Given the description of an element on the screen output the (x, y) to click on. 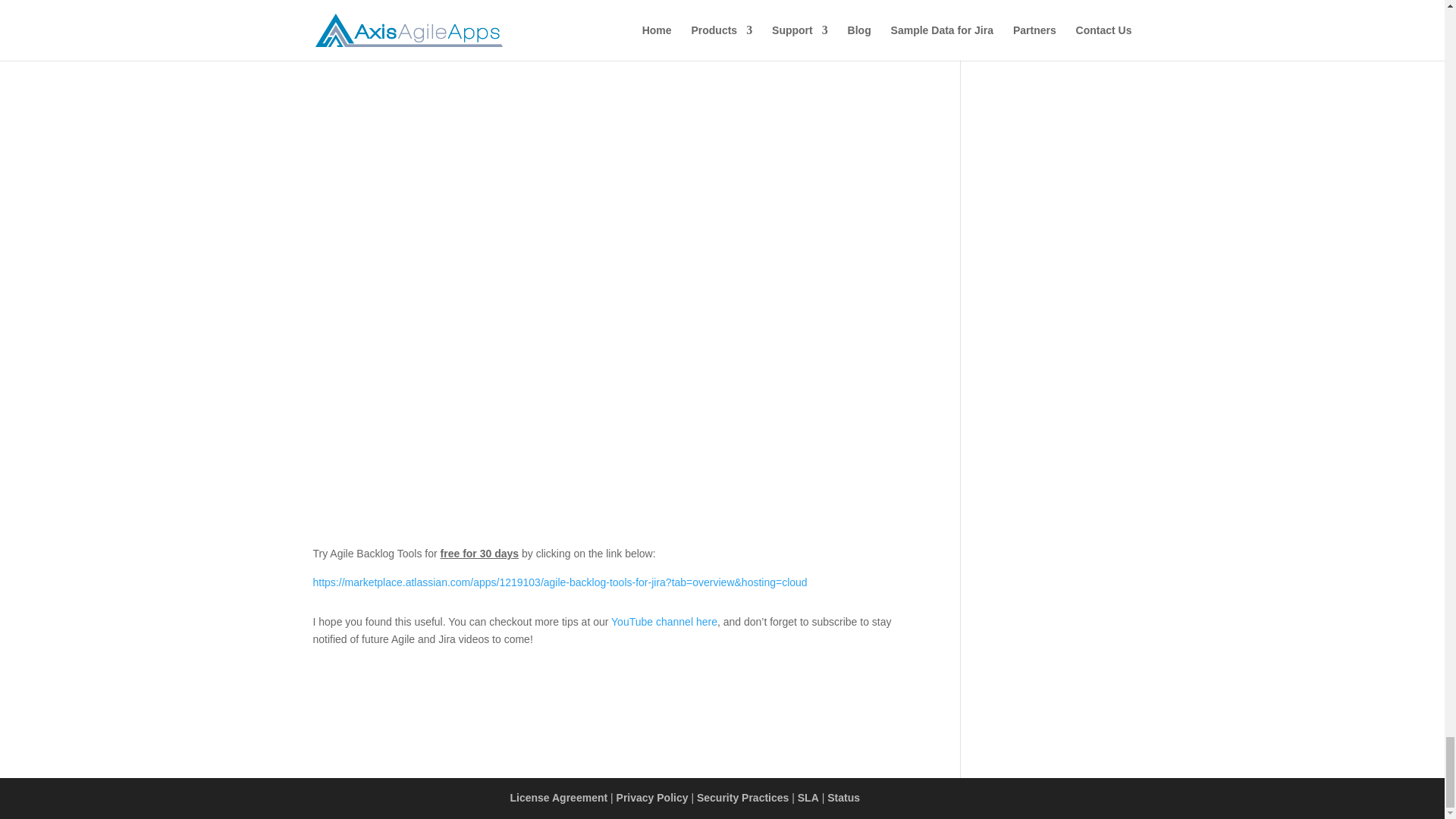
SLA (807, 797)
Security Practices (743, 797)
License Agreement (558, 797)
YouTube channel here (664, 621)
Status (843, 797)
Privacy Policy (651, 797)
